Given the description of an element on the screen output the (x, y) to click on. 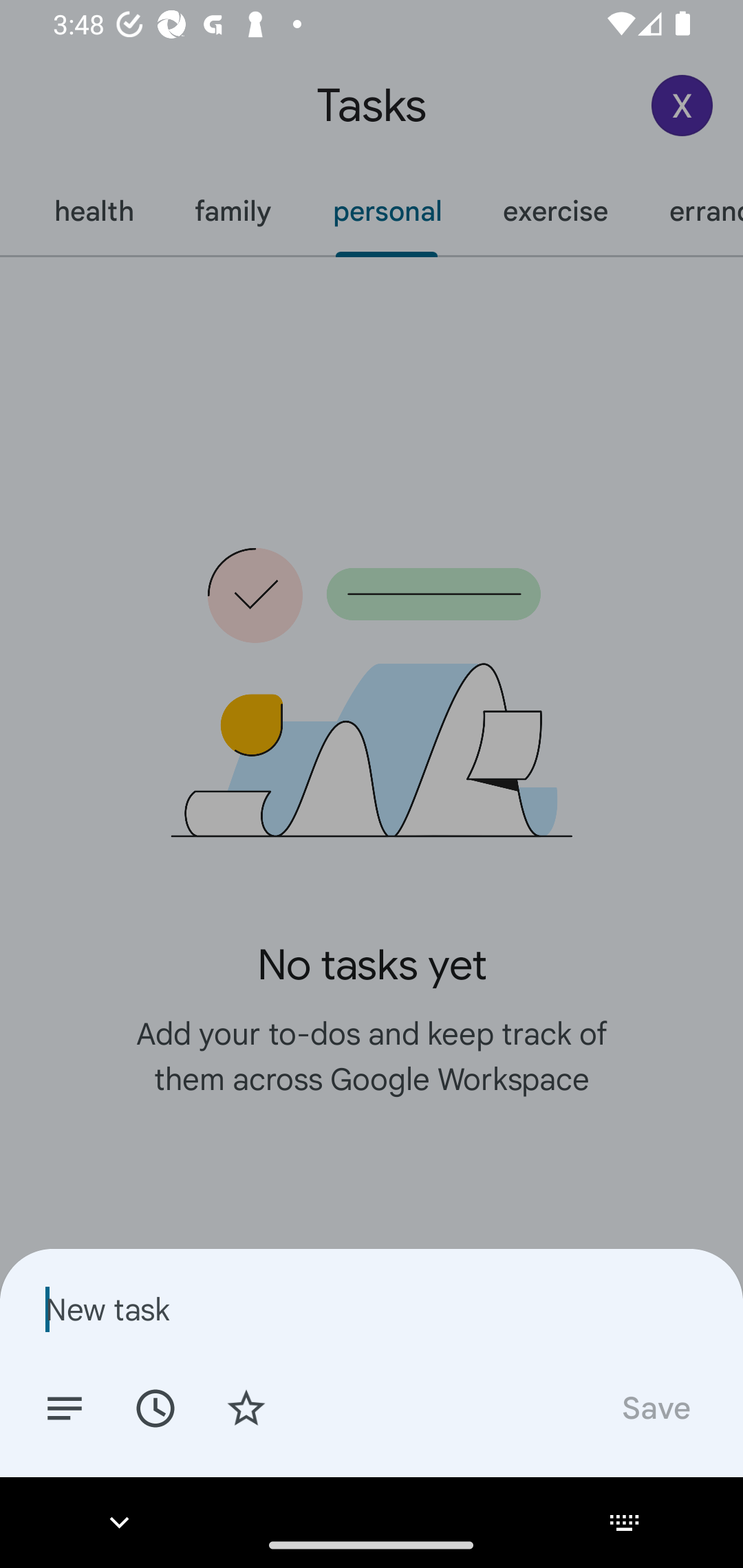
New task (371, 1308)
Save (655, 1407)
Add details (64, 1407)
Set date/time (154, 1407)
Add star (245, 1407)
